Given the description of an element on the screen output the (x, y) to click on. 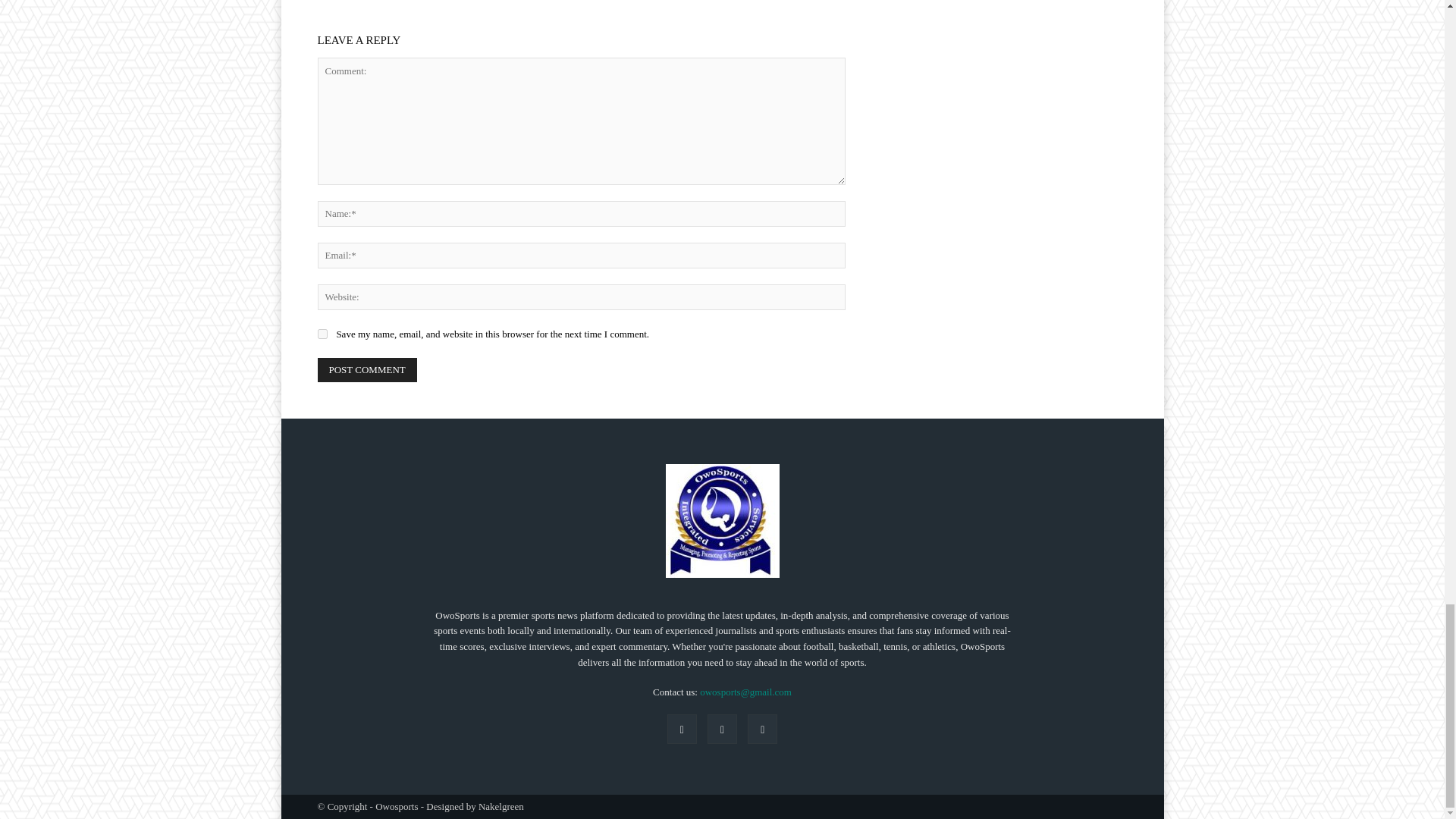
yes (321, 334)
Post Comment (366, 369)
